Given the description of an element on the screen output the (x, y) to click on. 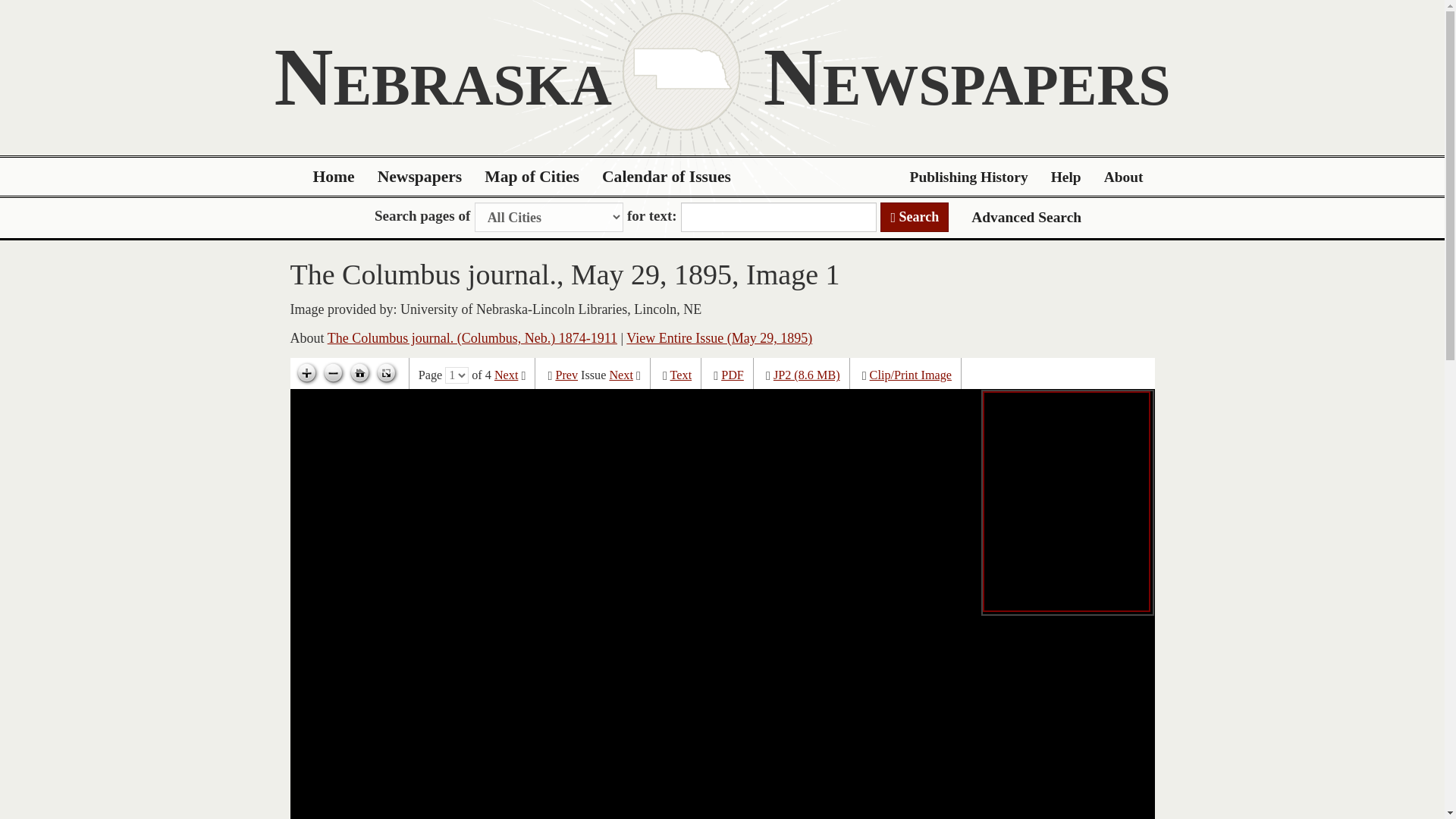
Go home (359, 373)
Help (1066, 176)
Publishing History (968, 176)
Next (506, 375)
Advanced Search (1026, 216)
Prev (566, 375)
Zoom out (333, 373)
Toggle full page (385, 373)
Home (333, 176)
Next (619, 375)
Zoom in (307, 373)
Search (914, 217)
PDF (732, 375)
Map of Cities (532, 176)
Text (681, 375)
